Given the description of an element on the screen output the (x, y) to click on. 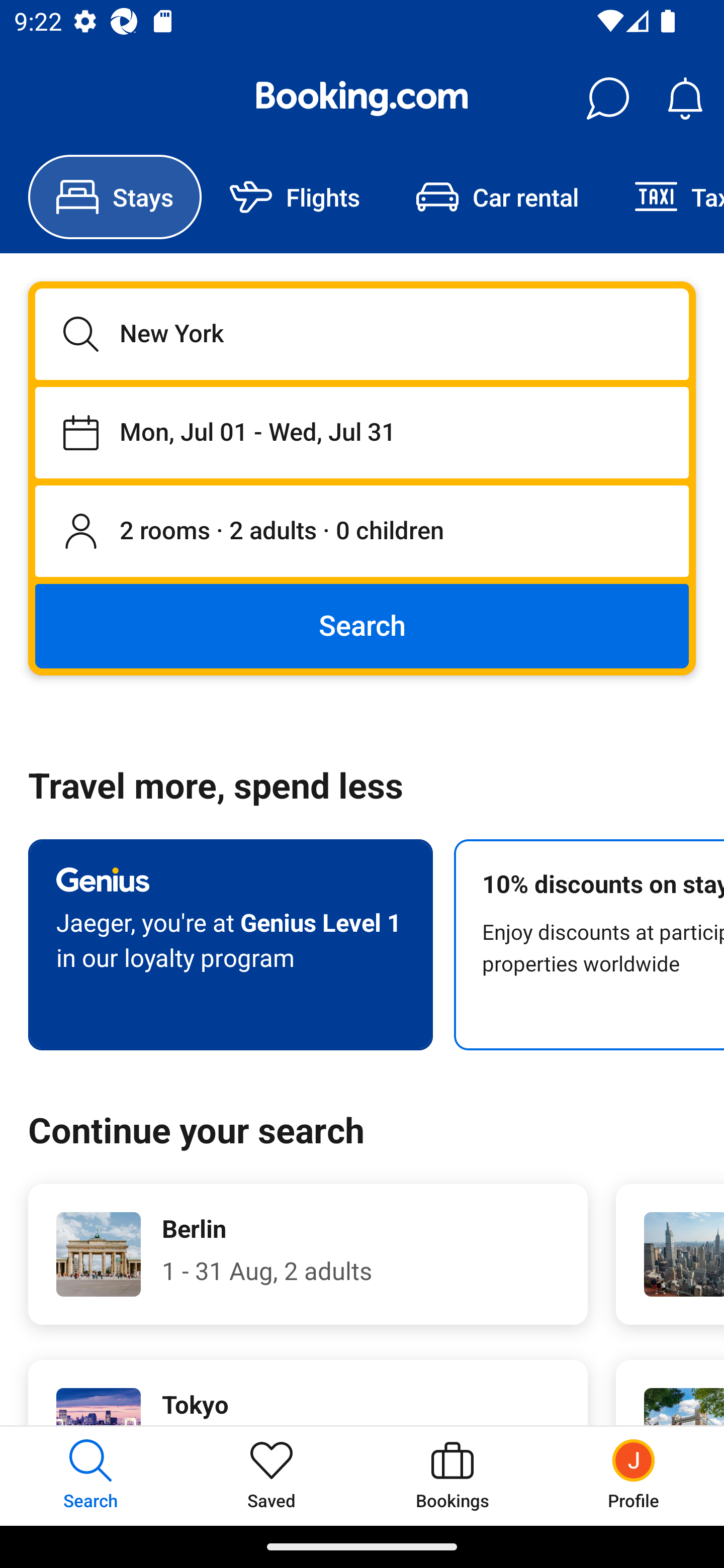
Messages (607, 98)
Notifications (685, 98)
Stays (114, 197)
Flights (294, 197)
Car rental (497, 197)
Taxi (665, 197)
New York (361, 333)
Staying from Mon, Jul 01 until Wed, Jul 31 (361, 432)
2 rooms, 2 adults, 0 children (361, 531)
Search (361, 625)
Berlin 1 - 31 Aug, 2 adults (307, 1253)
Saved (271, 1475)
Bookings (452, 1475)
Profile (633, 1475)
